Given the description of an element on the screen output the (x, y) to click on. 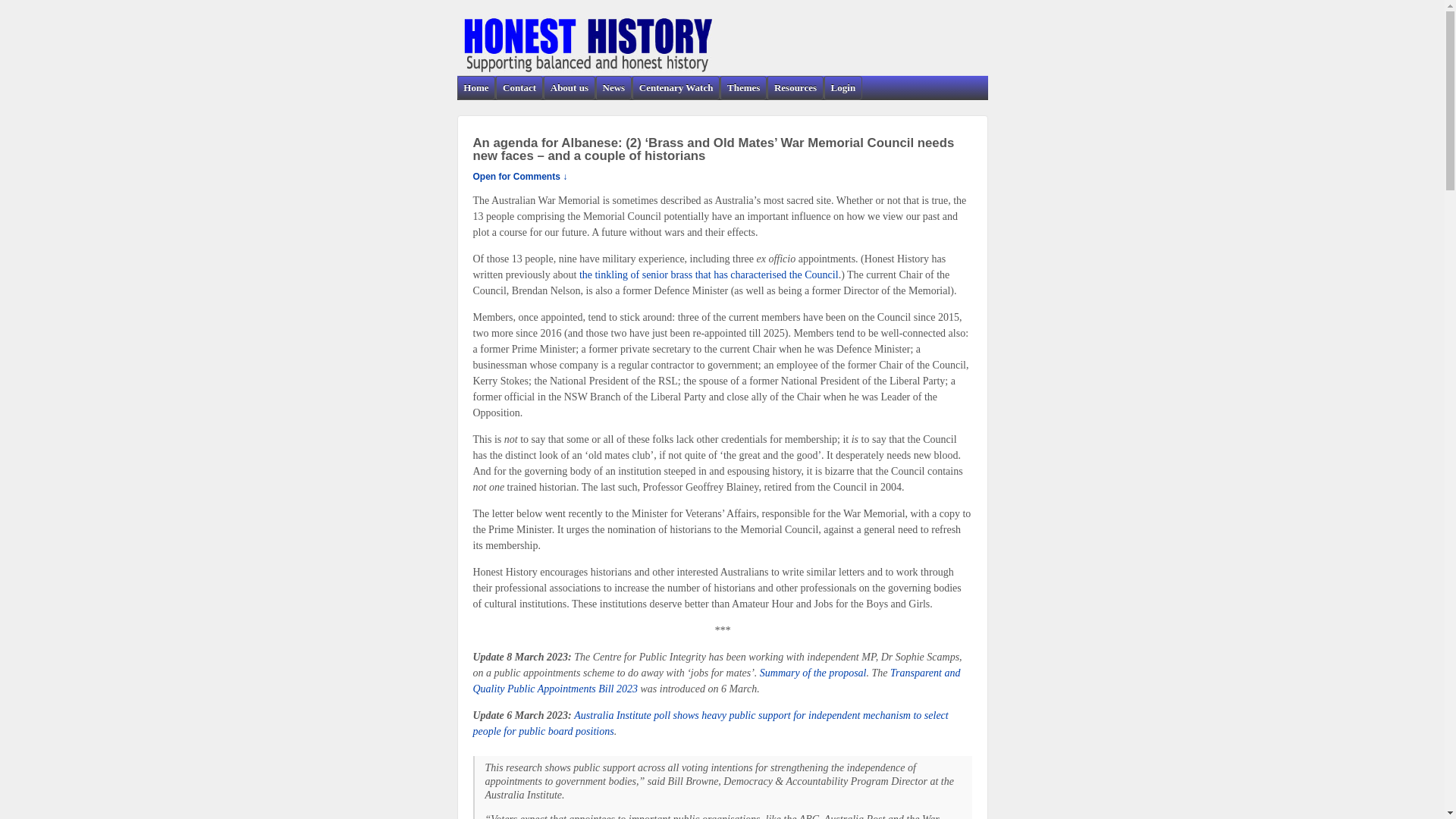
Contact (518, 87)
Centenary Watch (675, 87)
Login (842, 87)
Resources (794, 87)
Themes (742, 87)
About us (568, 87)
News (612, 87)
Home (476, 87)
